Given the description of an element on the screen output the (x, y) to click on. 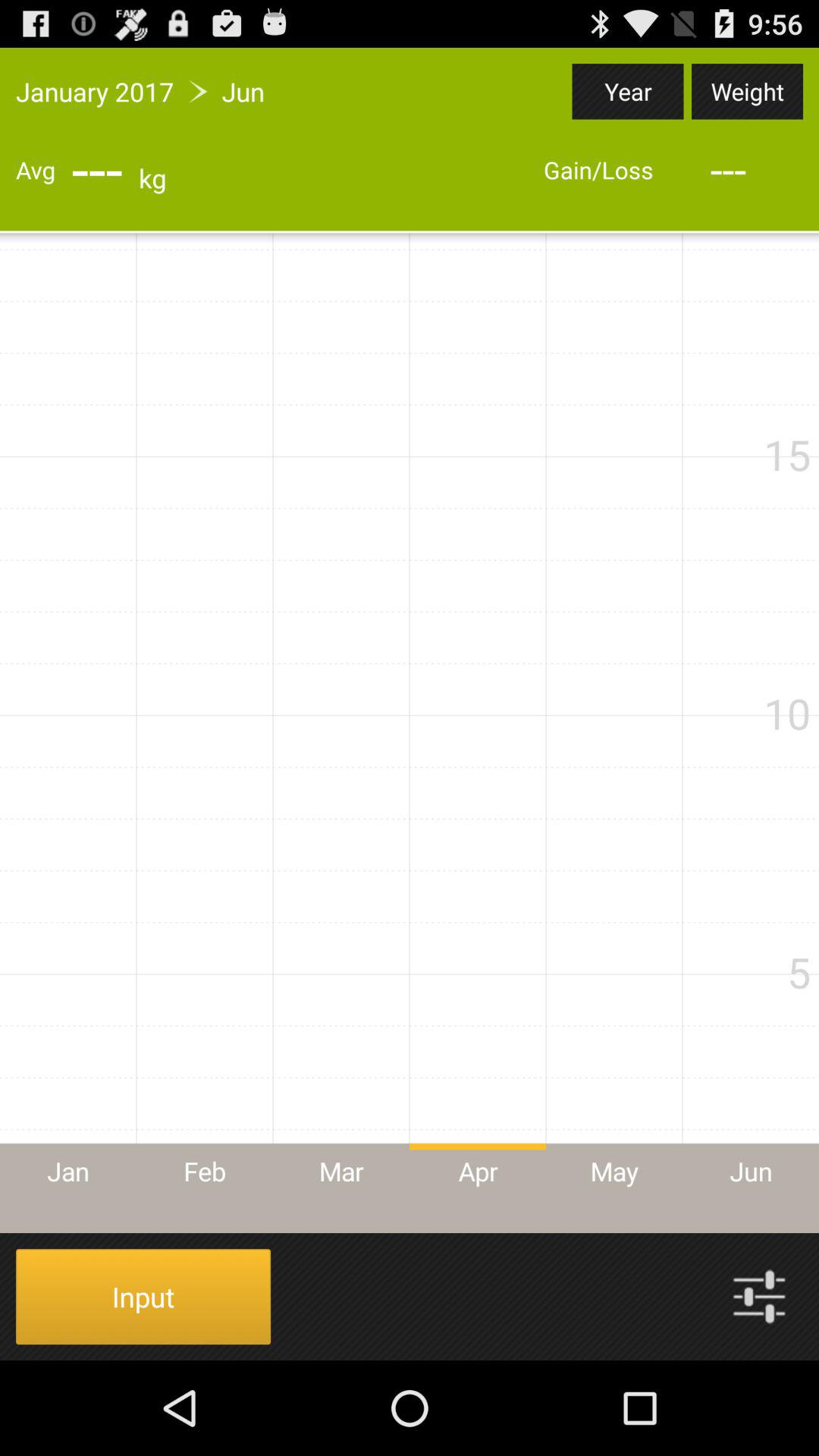
flip until the weight item (747, 91)
